Given the description of an element on the screen output the (x, y) to click on. 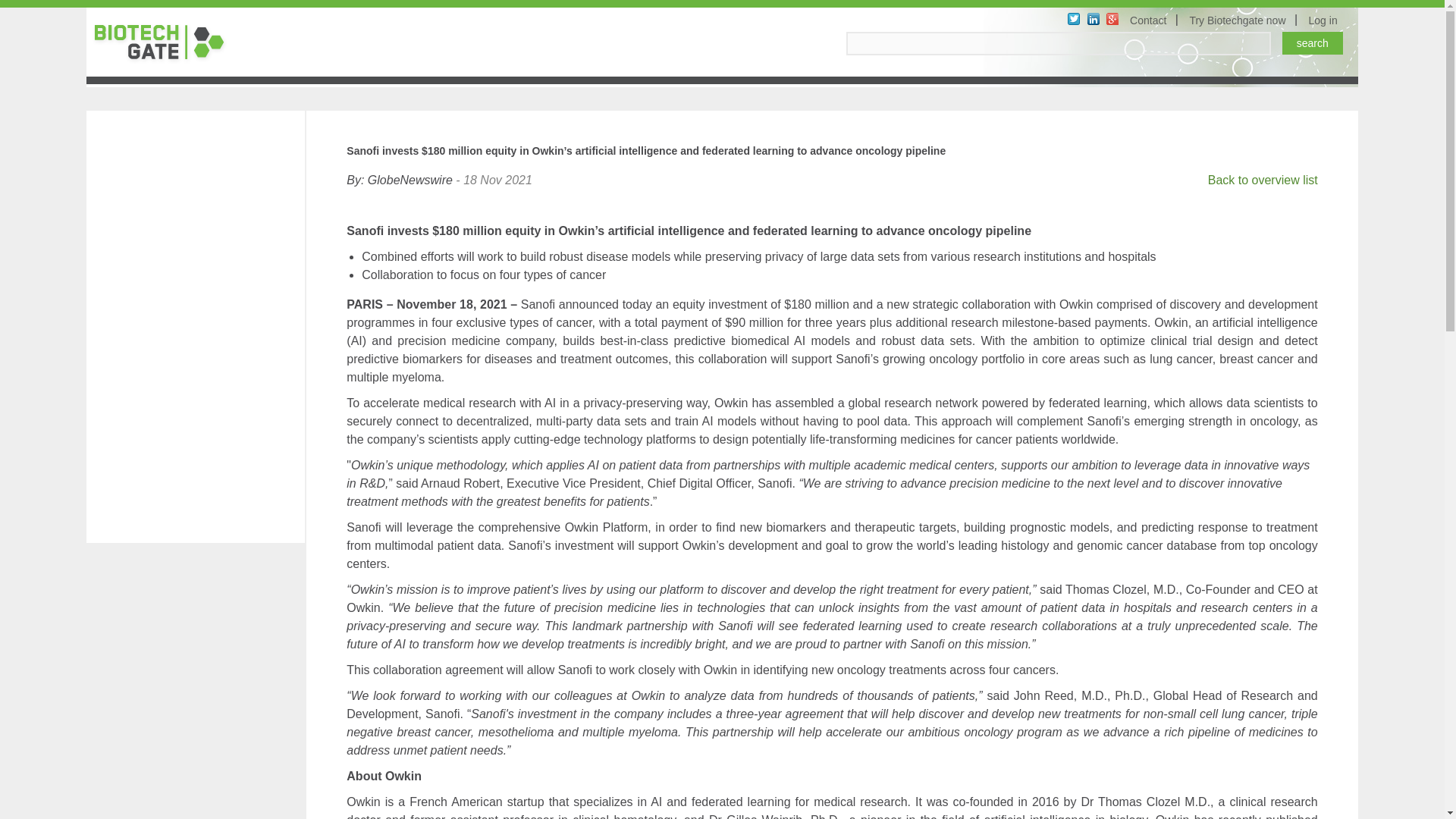
By: GlobeNewswire (399, 179)
search (1312, 42)
Try Biotechgate now (1239, 20)
Log in (1325, 20)
search (1312, 42)
Contact (1150, 20)
Follow us on LinkedIn (1093, 19)
Back to overview list (1262, 179)
Biotechgate (165, 42)
Follow us on Twitter (1073, 19)
